Given the description of an element on the screen output the (x, y) to click on. 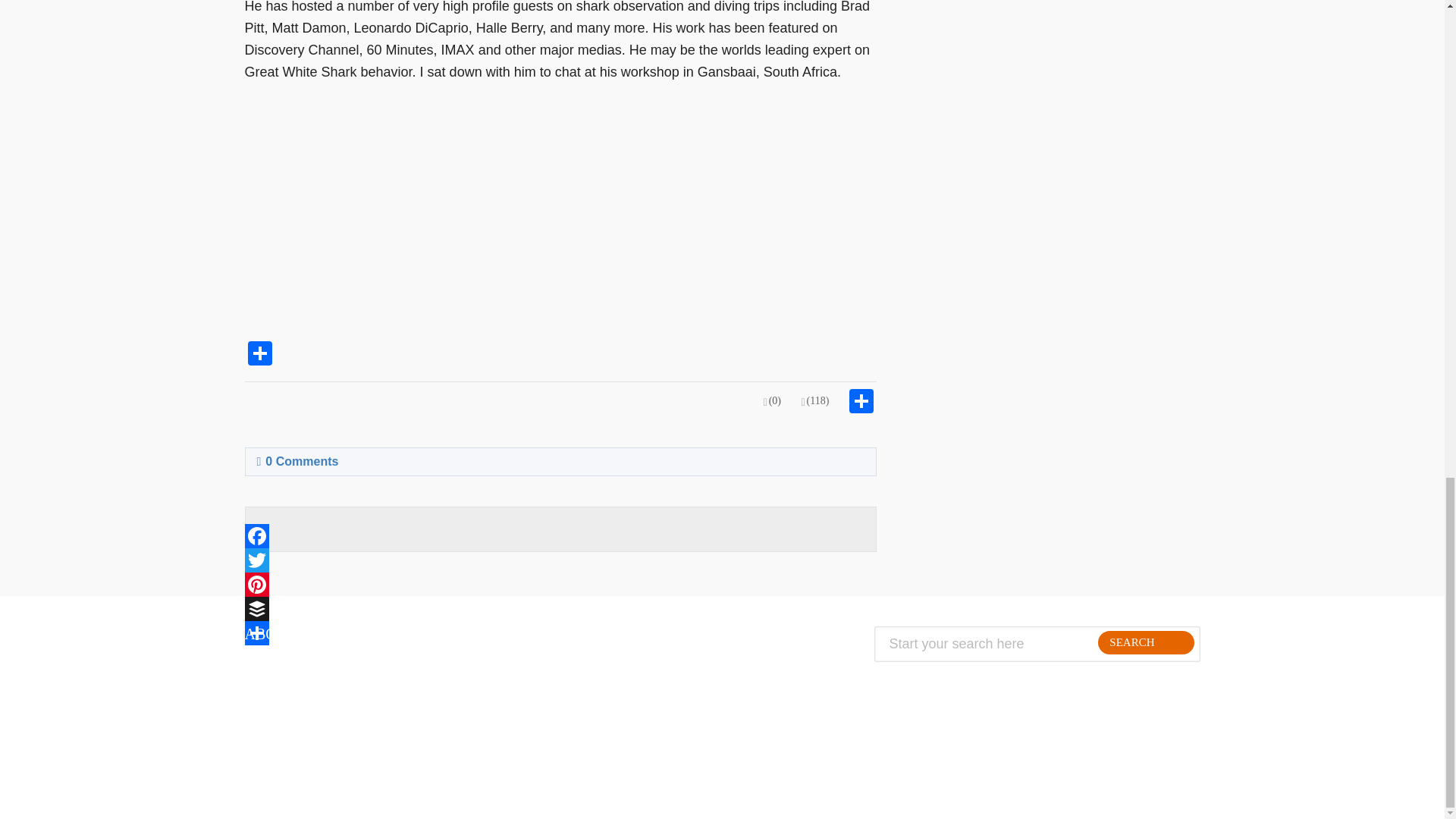
Like (814, 401)
Share (259, 355)
0 Comments (296, 461)
0 Comments (296, 461)
Share (860, 402)
